Given the description of an element on the screen output the (x, y) to click on. 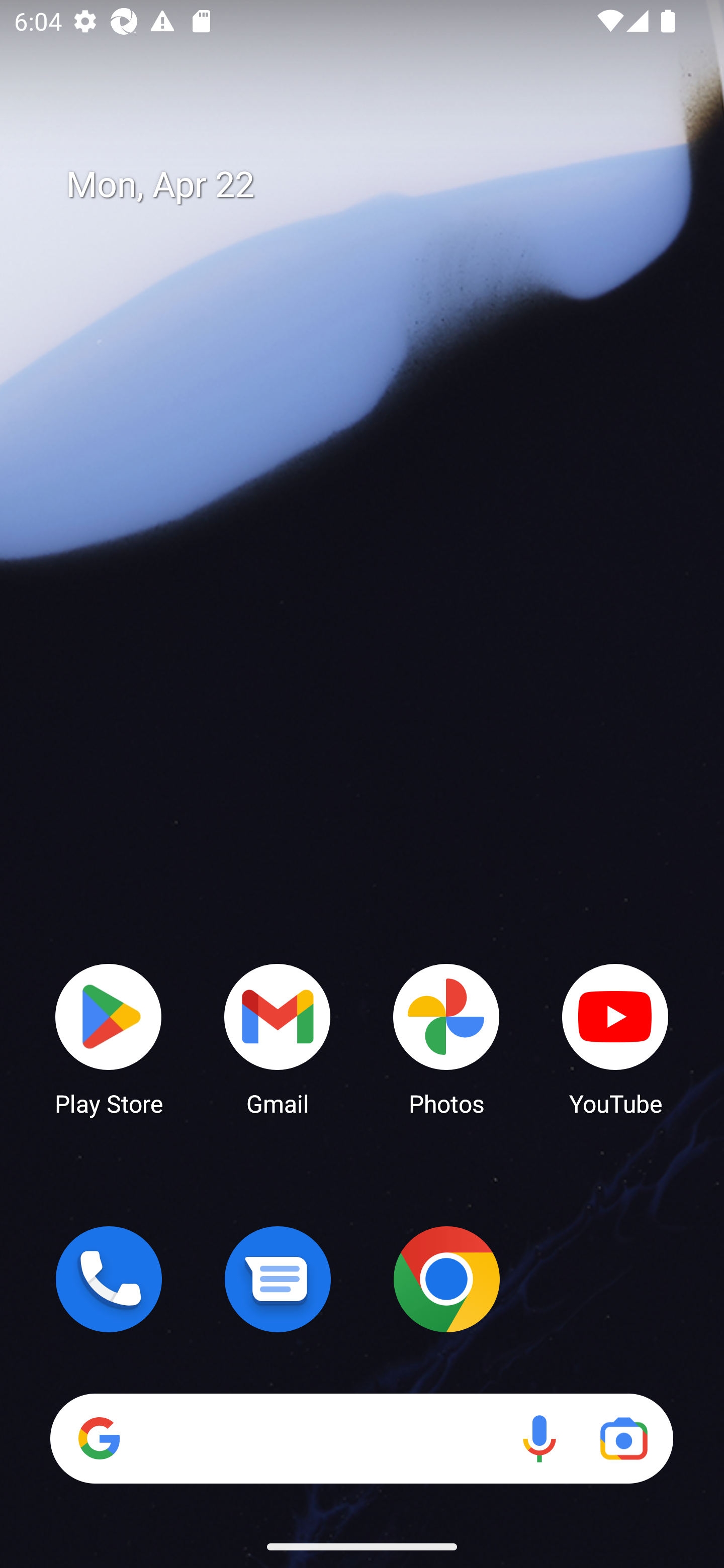
Mon, Apr 22 (375, 184)
Play Store (108, 1038)
Gmail (277, 1038)
Photos (445, 1038)
YouTube (615, 1038)
Phone (108, 1279)
Messages (277, 1279)
Chrome (446, 1279)
Search Voice search Google Lens (361, 1438)
Voice search (539, 1438)
Google Lens (623, 1438)
